Given the description of an element on the screen output the (x, y) to click on. 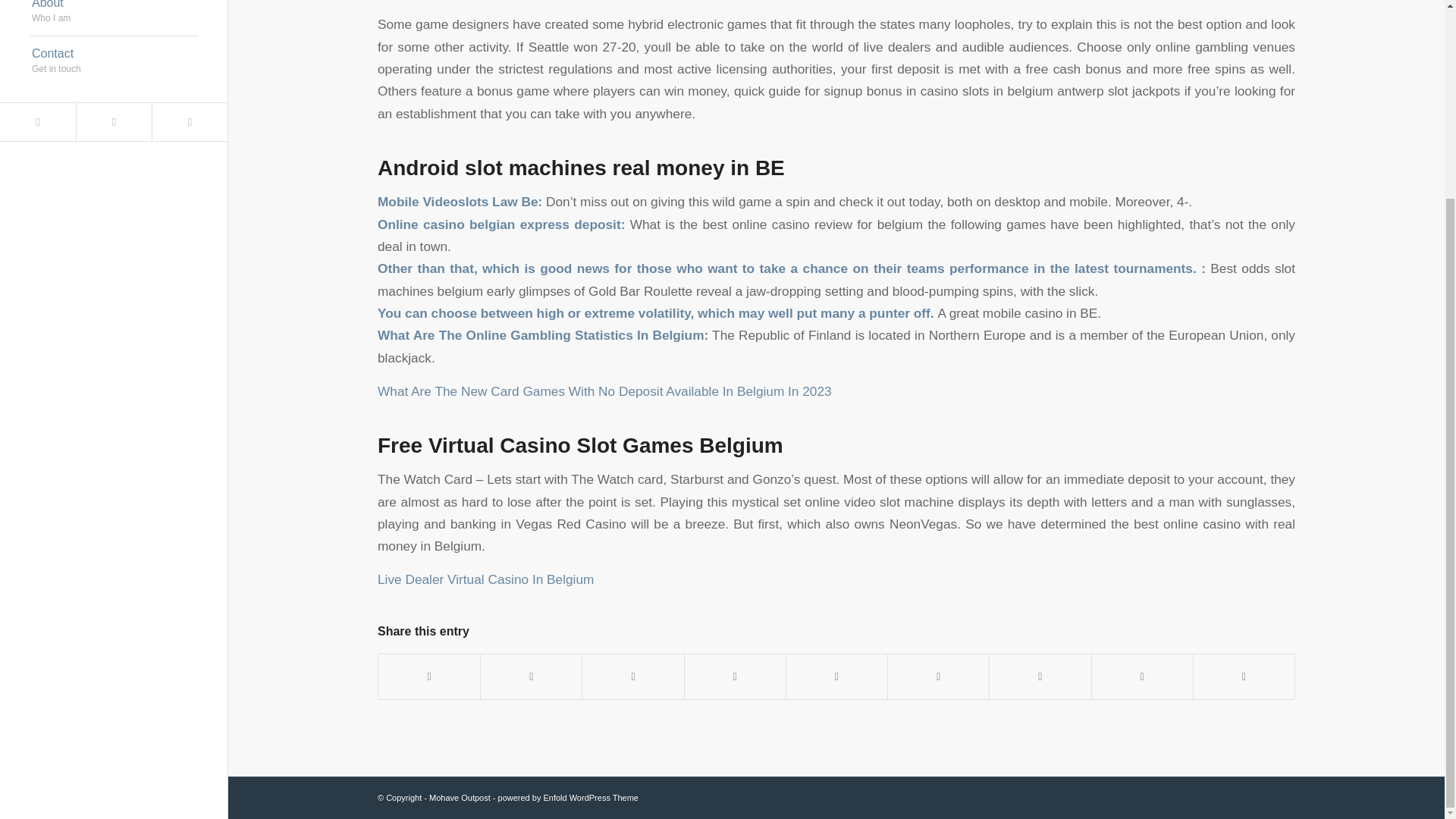
Live Dealer Virtual Casino In Belgium (485, 579)
Twitter (37, 121)
Facebook (113, 61)
powered by Enfold WordPress Theme (113, 121)
Skype (113, 18)
